Given the description of an element on the screen output the (x, y) to click on. 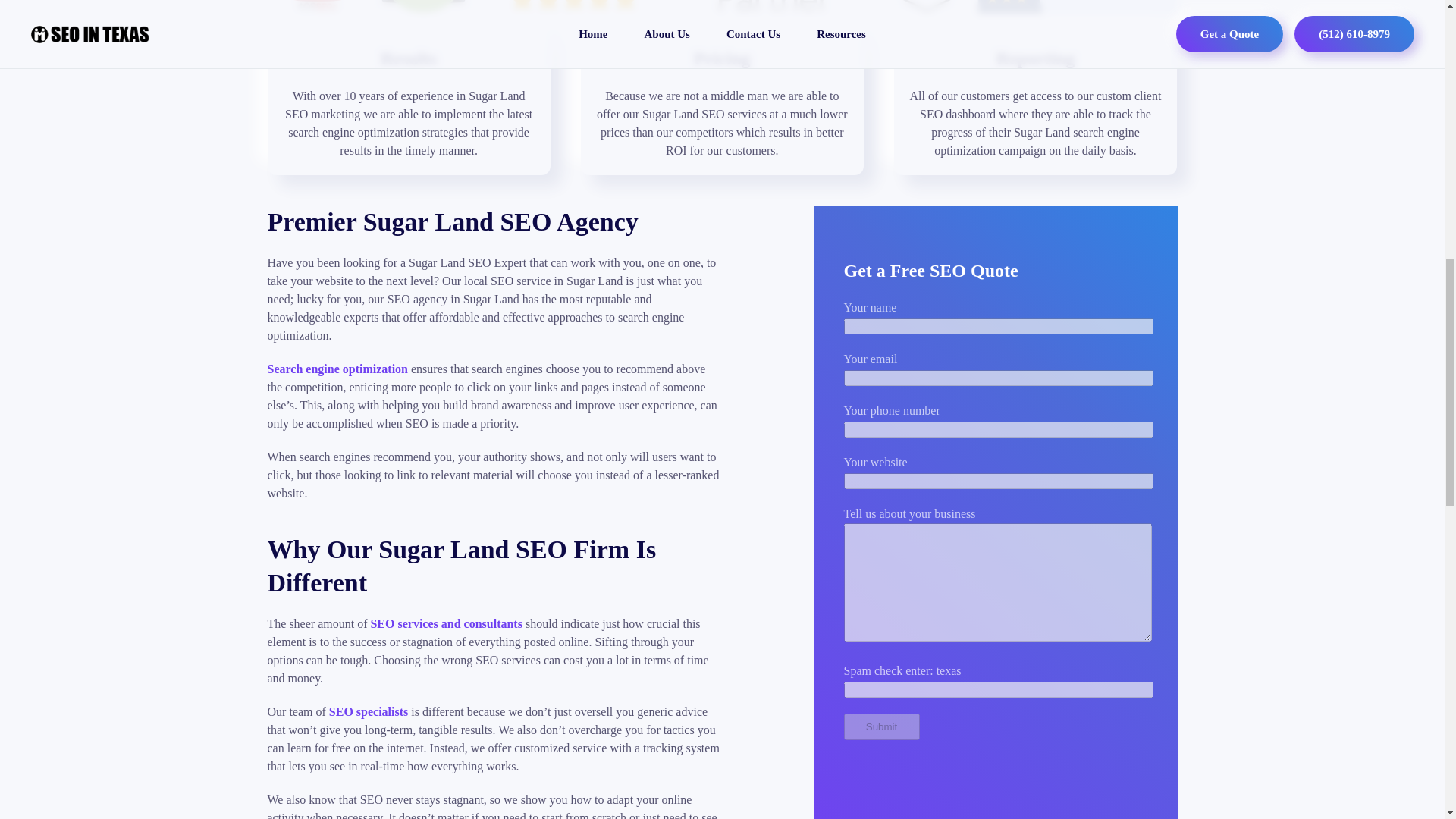
SEO specialists (368, 711)
Search engine optimization (336, 368)
SEO services and consultants (445, 623)
Submit (880, 726)
Submit (880, 726)
